Given the description of an element on the screen output the (x, y) to click on. 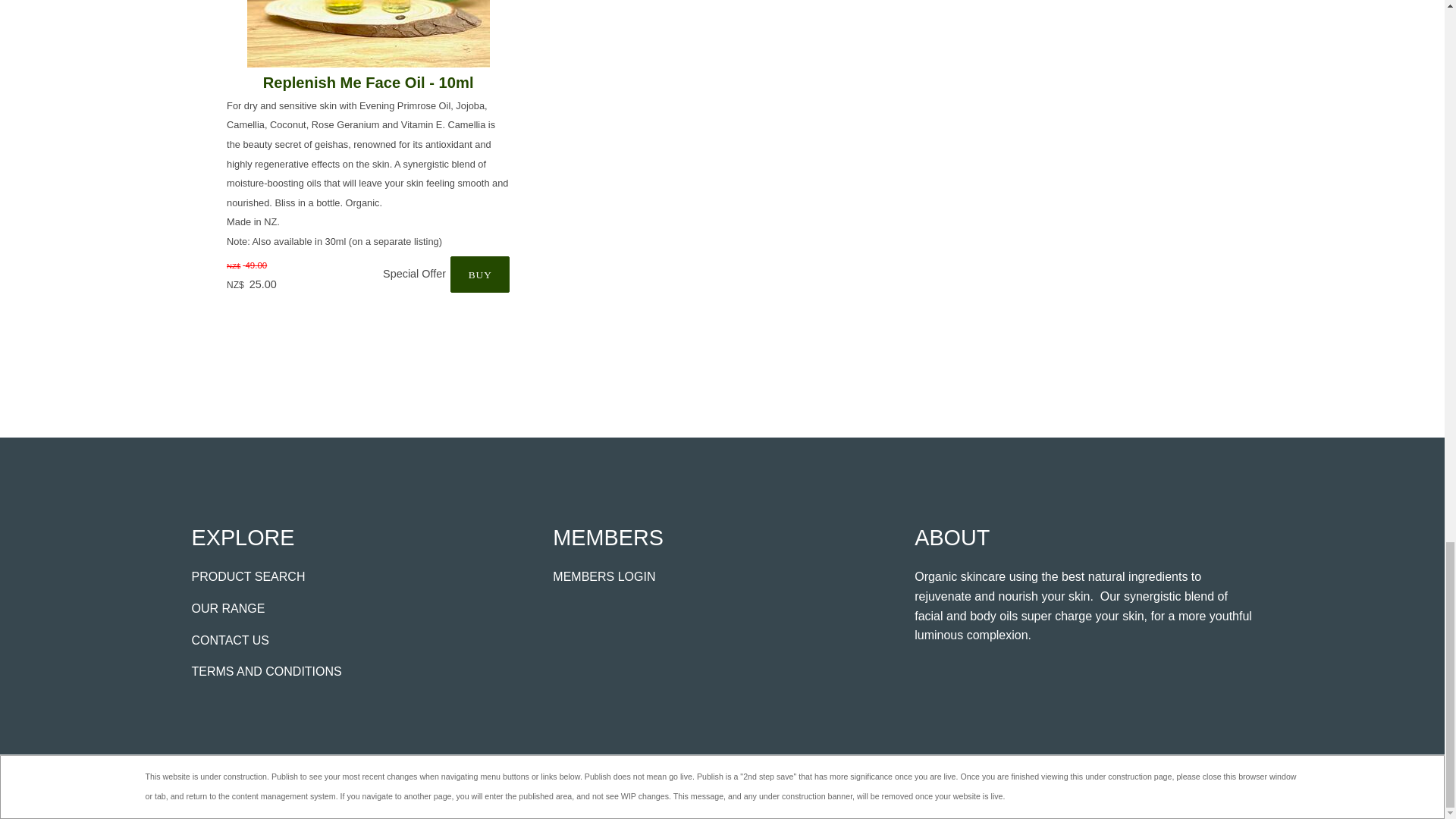
MEMBERS LOGIN (604, 576)
PRODUCT SEARCH (247, 576)
Replenish Me Face Oil - 10ml (368, 82)
OUR RANGE (227, 608)
TERMS AND CONDITIONS (265, 671)
CONTACT US (229, 640)
Buy (479, 274)
